Given the description of an element on the screen output the (x, y) to click on. 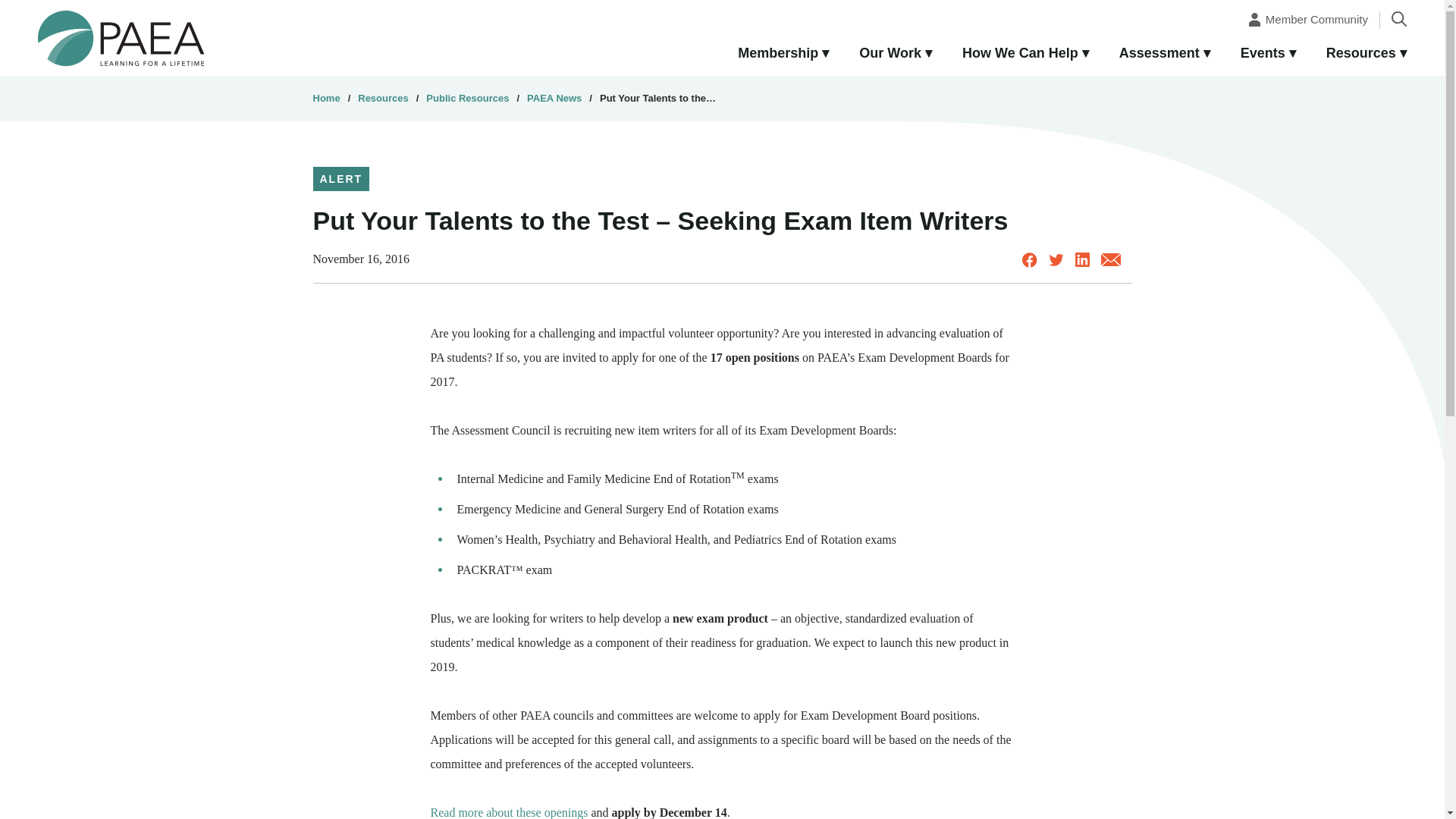
Our Work (895, 53)
homepage (121, 37)
Membership (783, 53)
